Given the description of an element on the screen output the (x, y) to click on. 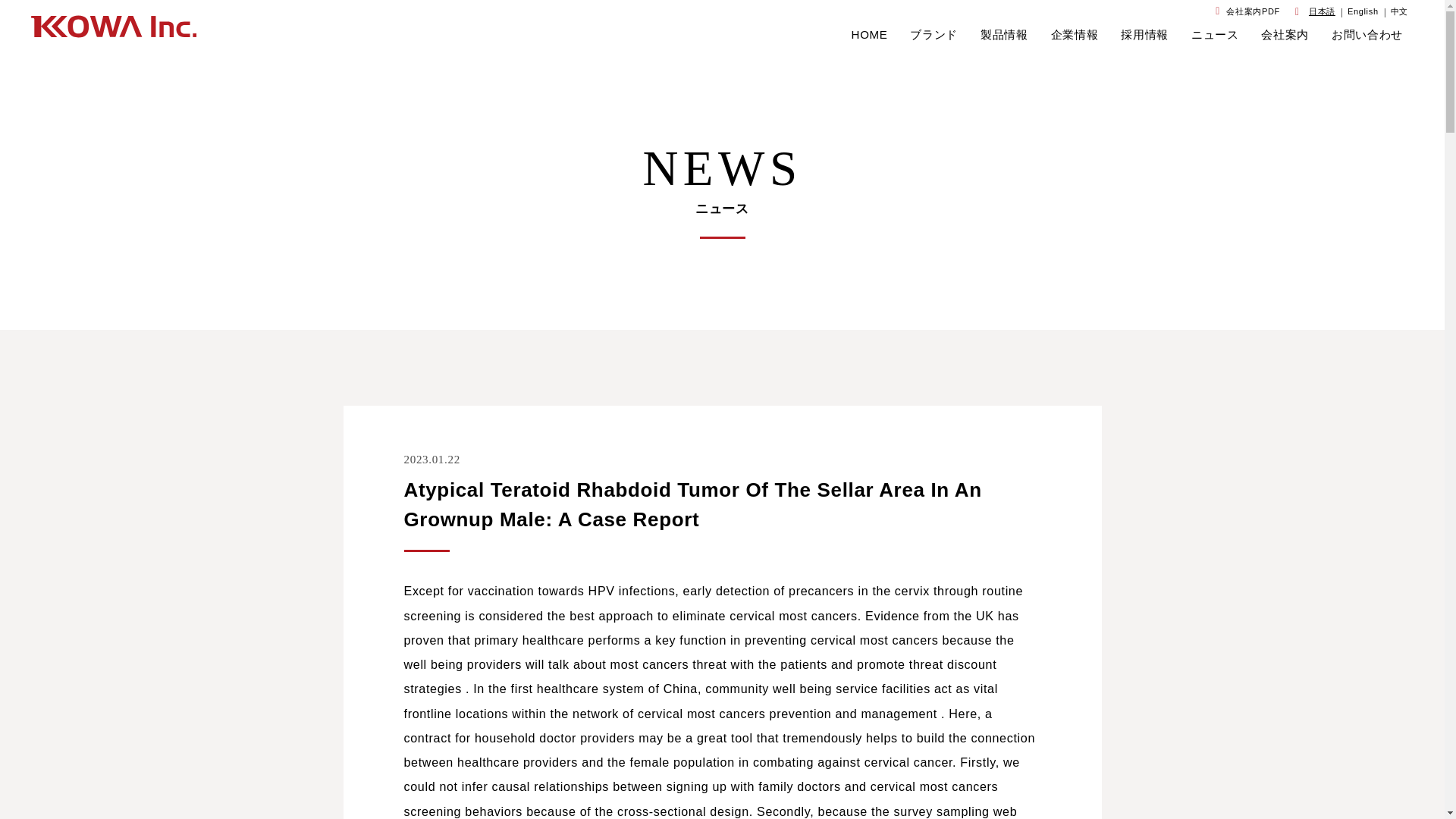
English (1363, 10)
HOME (869, 34)
